Given the description of an element on the screen output the (x, y) to click on. 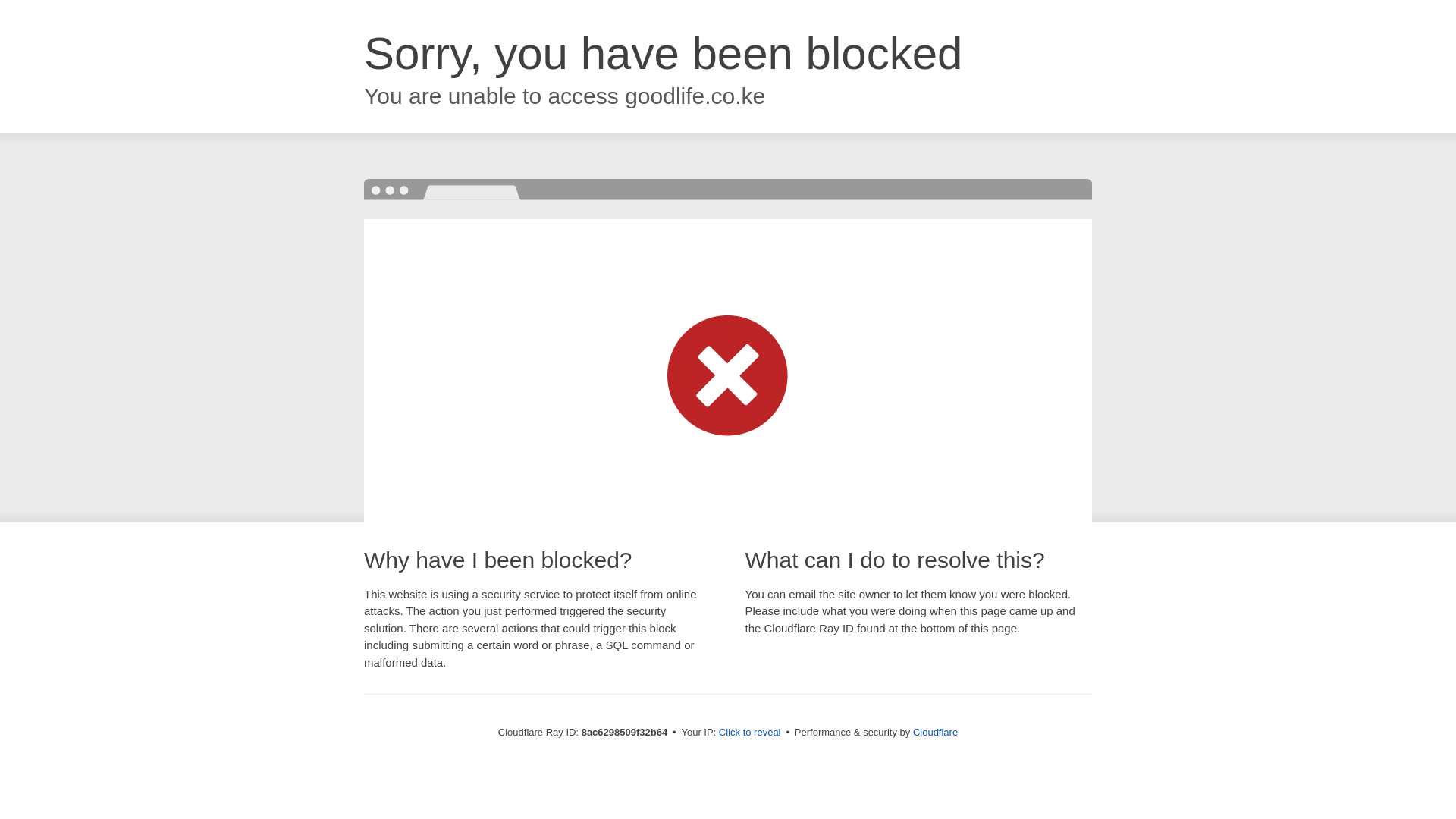
Click to reveal (749, 732)
Cloudflare (935, 731)
